Given the description of an element on the screen output the (x, y) to click on. 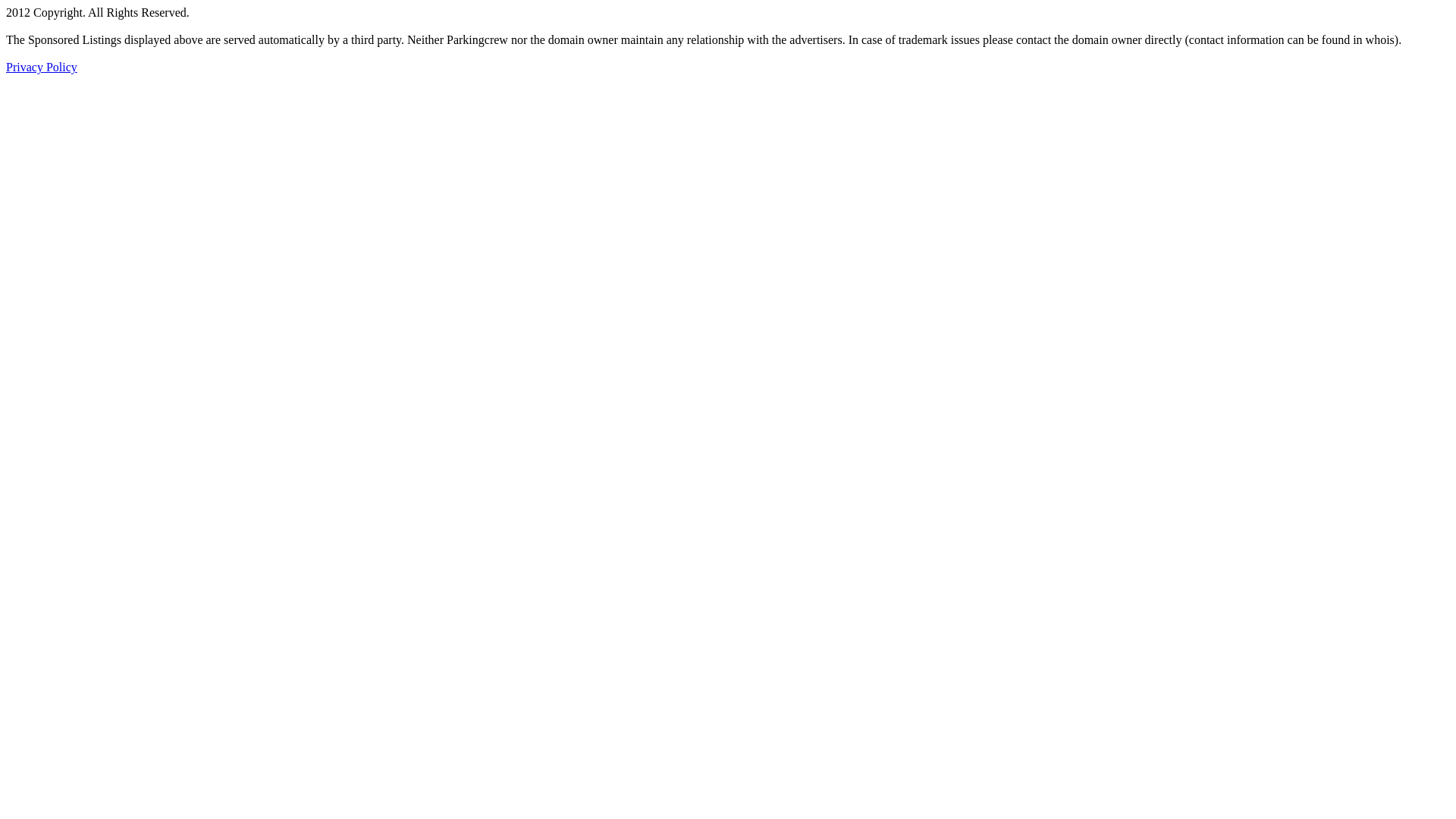
Privacy Policy Element type: text (41, 66)
